Given the description of an element on the screen output the (x, y) to click on. 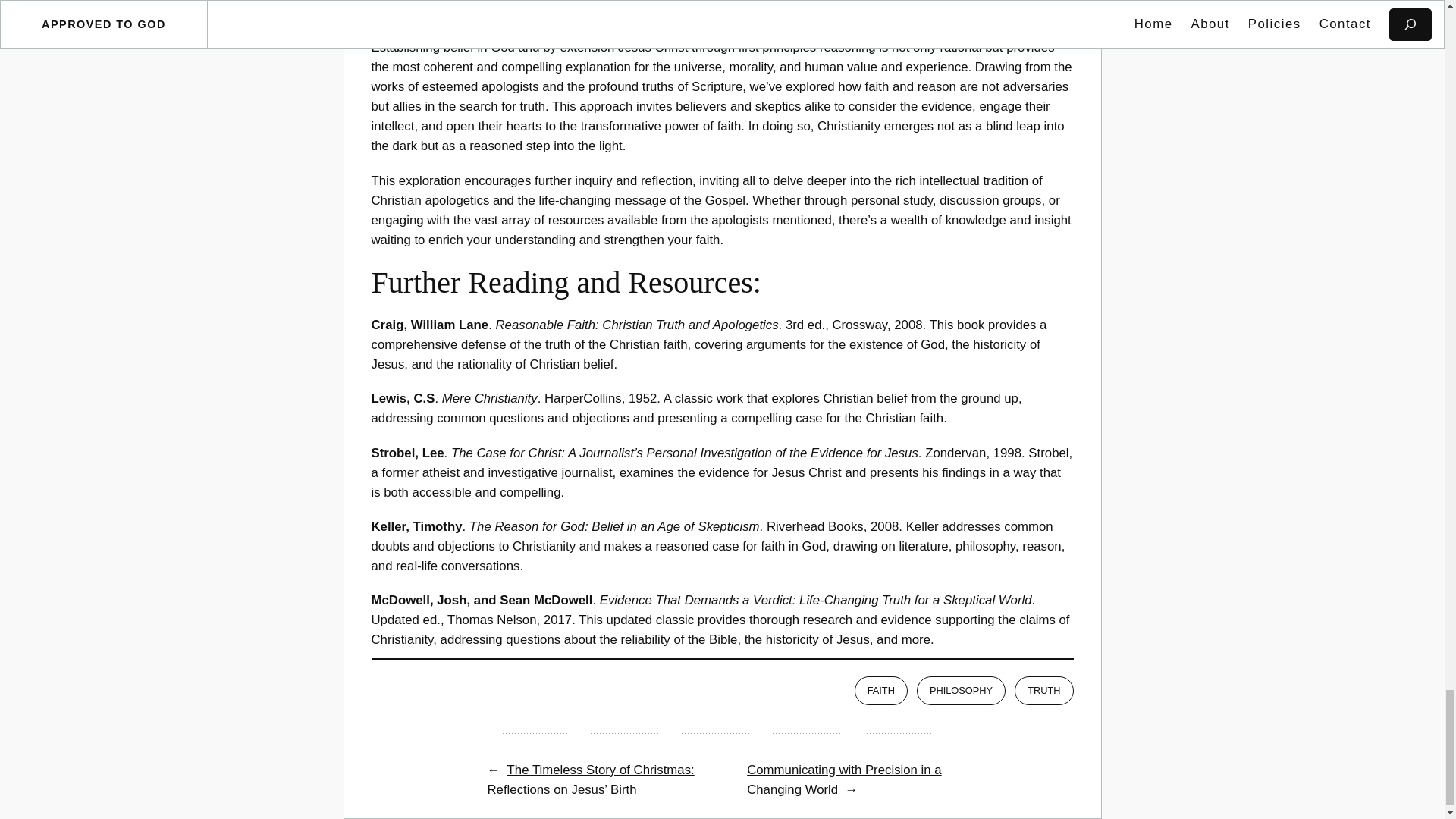
PHILOSOPHY (961, 690)
FAITH (880, 690)
Communicating with Precision in a Changing World (844, 779)
TRUTH (1043, 690)
